Given the description of an element on the screen output the (x, y) to click on. 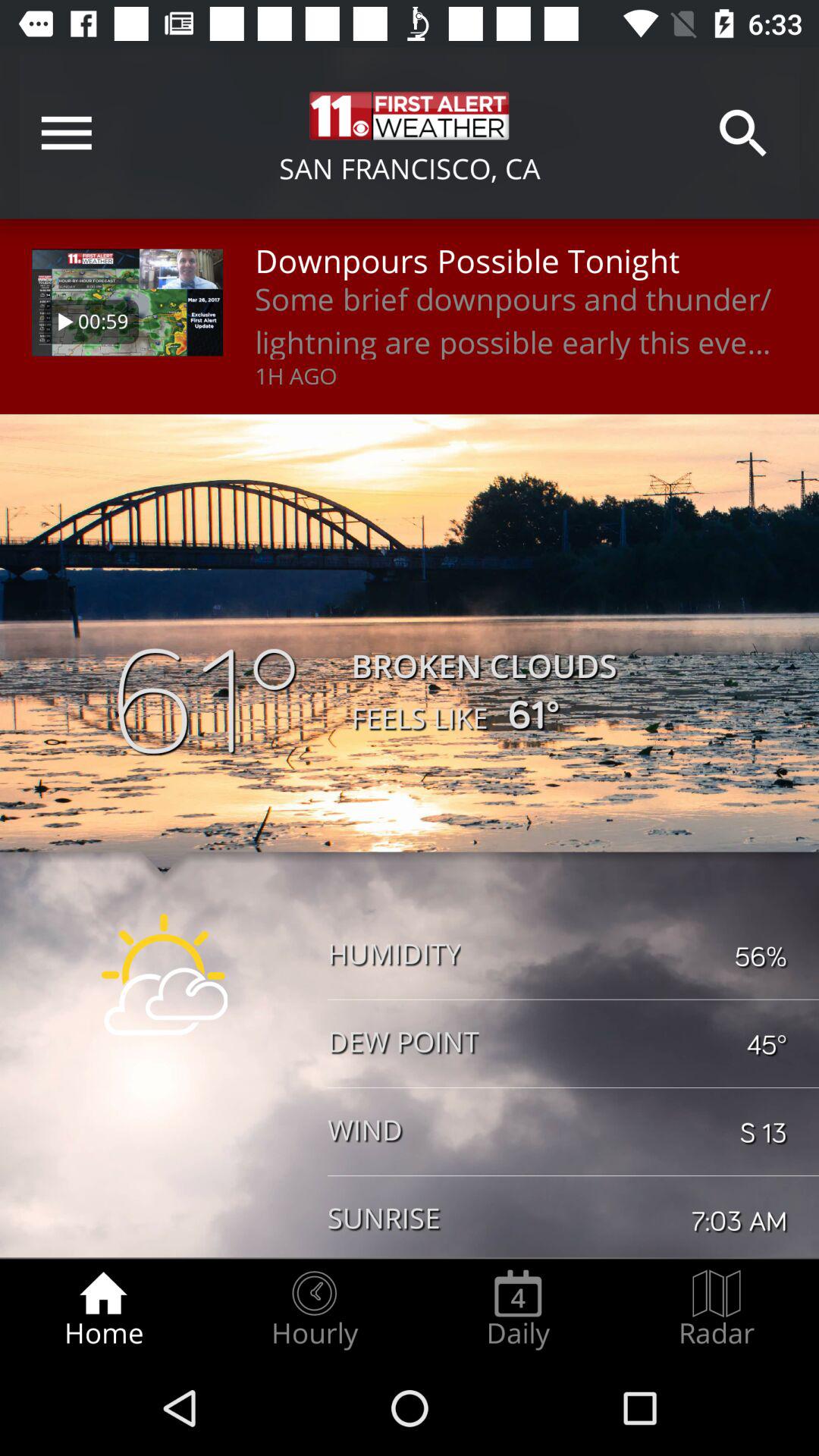
jump to the radar icon (716, 1309)
